Given the description of an element on the screen output the (x, y) to click on. 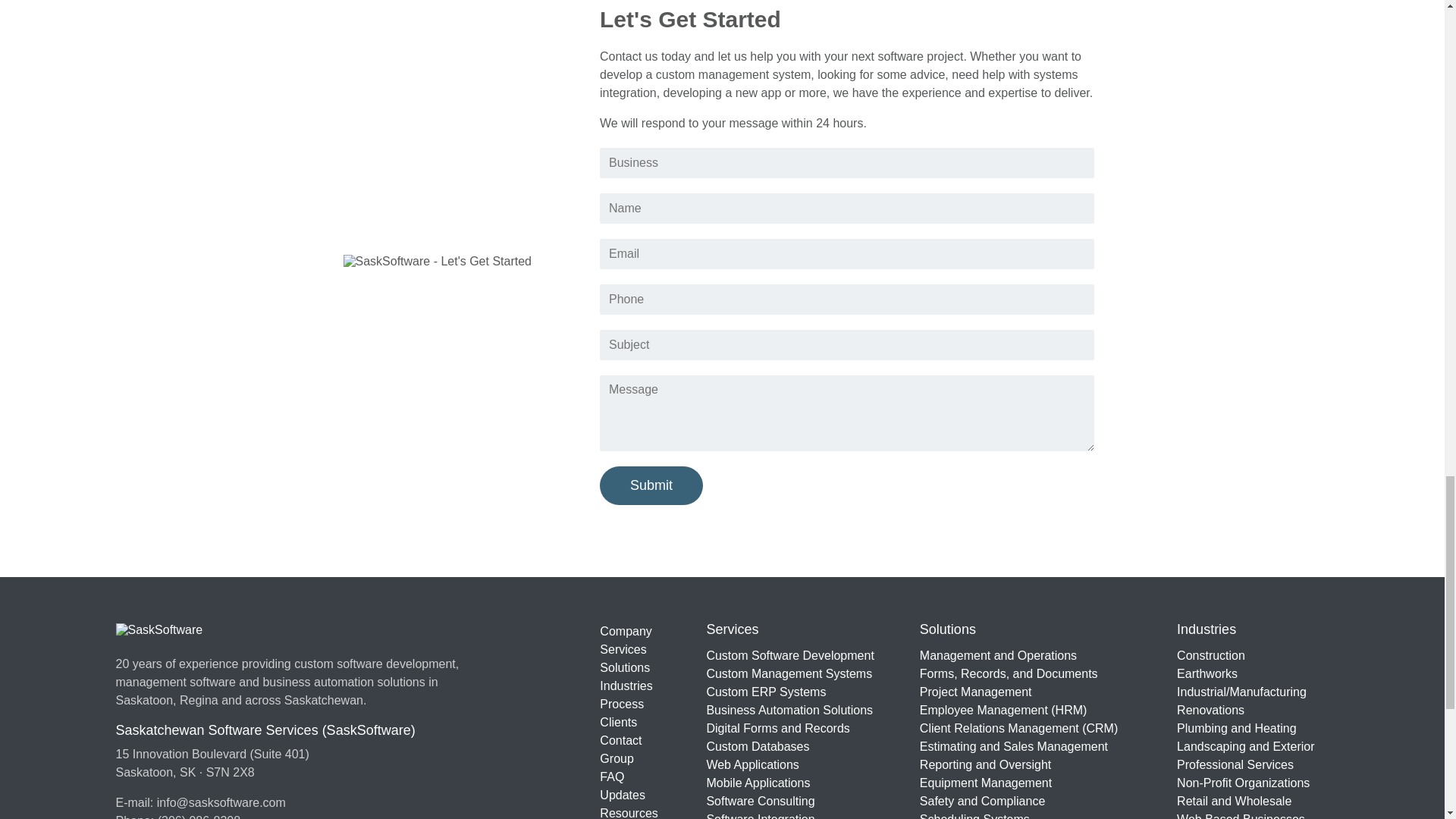
Industries (630, 686)
Process (630, 704)
Subject (846, 345)
Custom Software Development (789, 655)
Clients (630, 722)
Contact (630, 741)
Resources (630, 811)
Updates (630, 795)
Email (846, 254)
Digital Forms and Records (789, 728)
Services (630, 649)
Custom Management Systems (789, 673)
Business Automation Solutions (789, 710)
Submit (651, 485)
Business (846, 163)
